Given the description of an element on the screen output the (x, y) to click on. 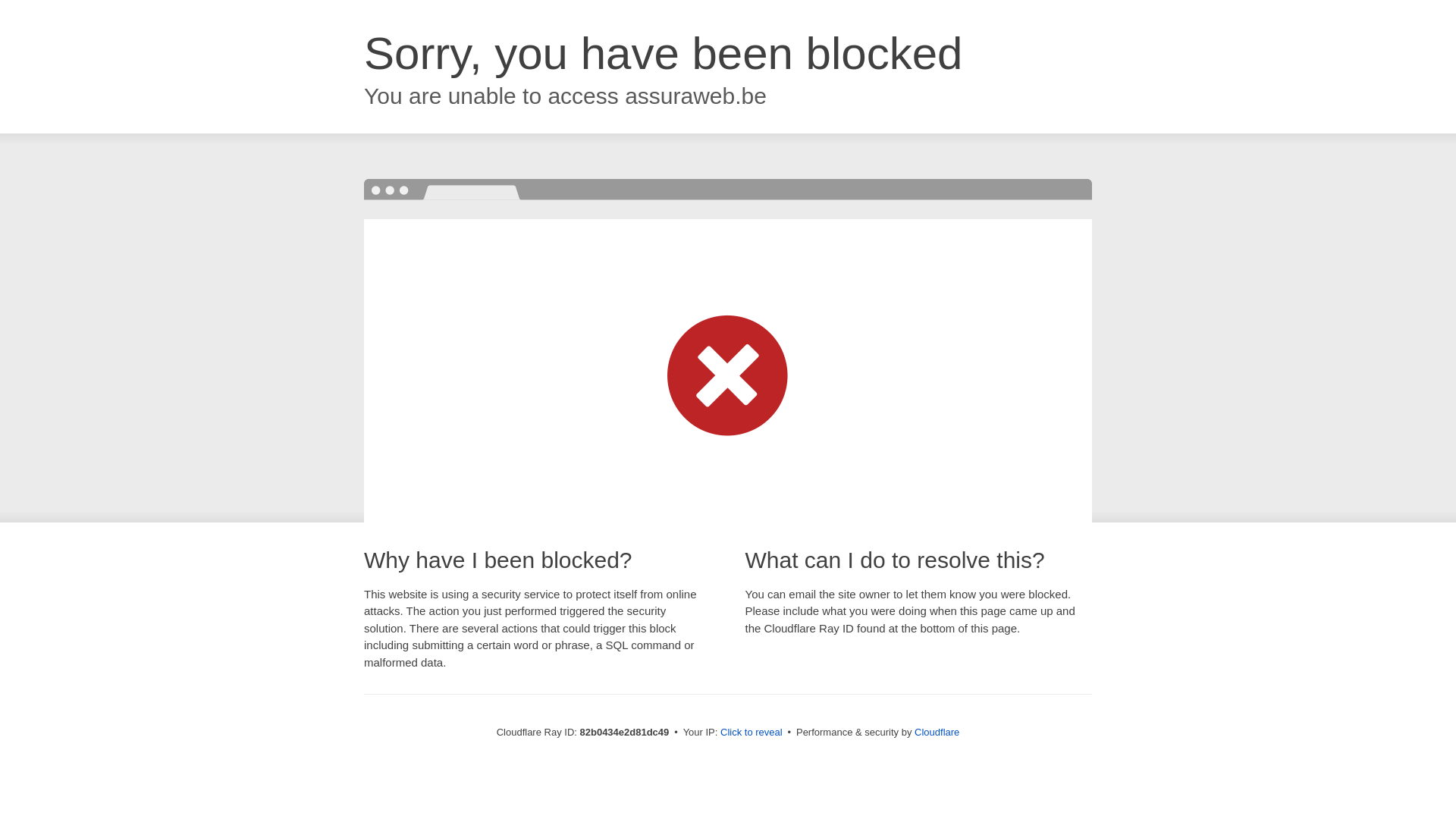
Cloudflare Element type: text (936, 731)
Click to reveal Element type: text (751, 732)
